Given the description of an element on the screen output the (x, y) to click on. 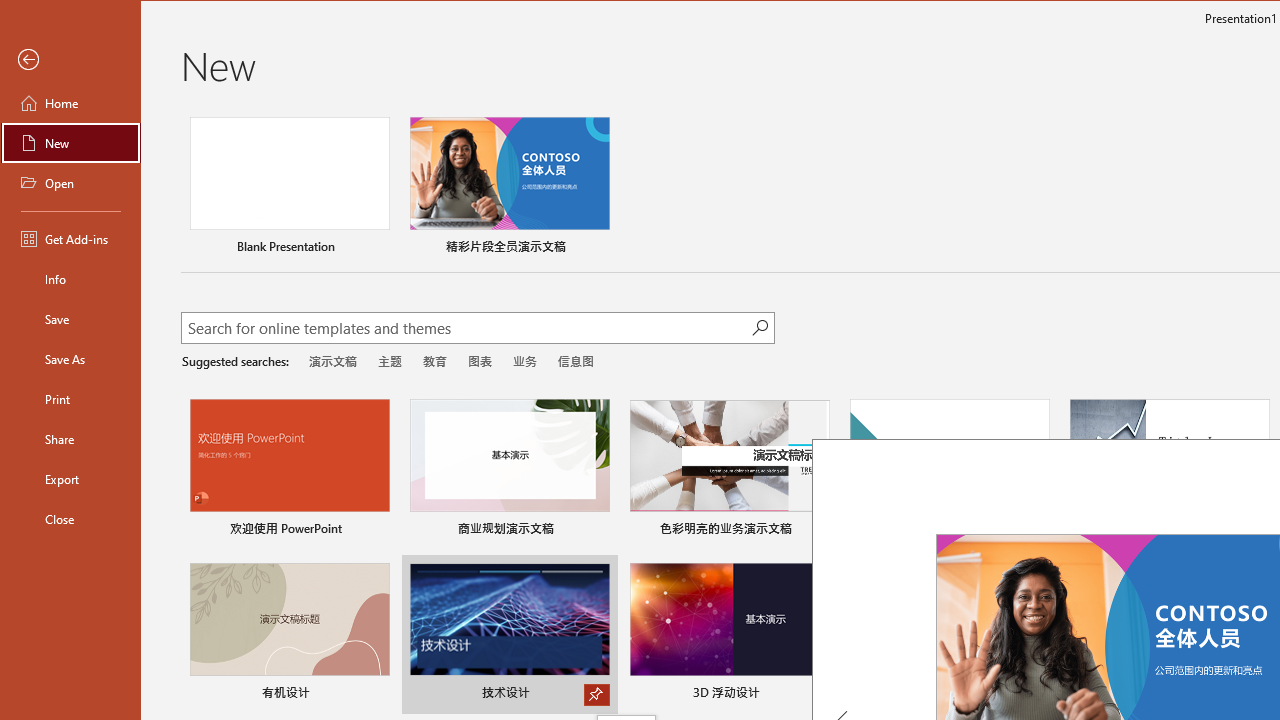
Print (70, 398)
Back (70, 60)
Pin to list (1256, 695)
Start searching (760, 327)
